Given the description of an element on the screen output the (x, y) to click on. 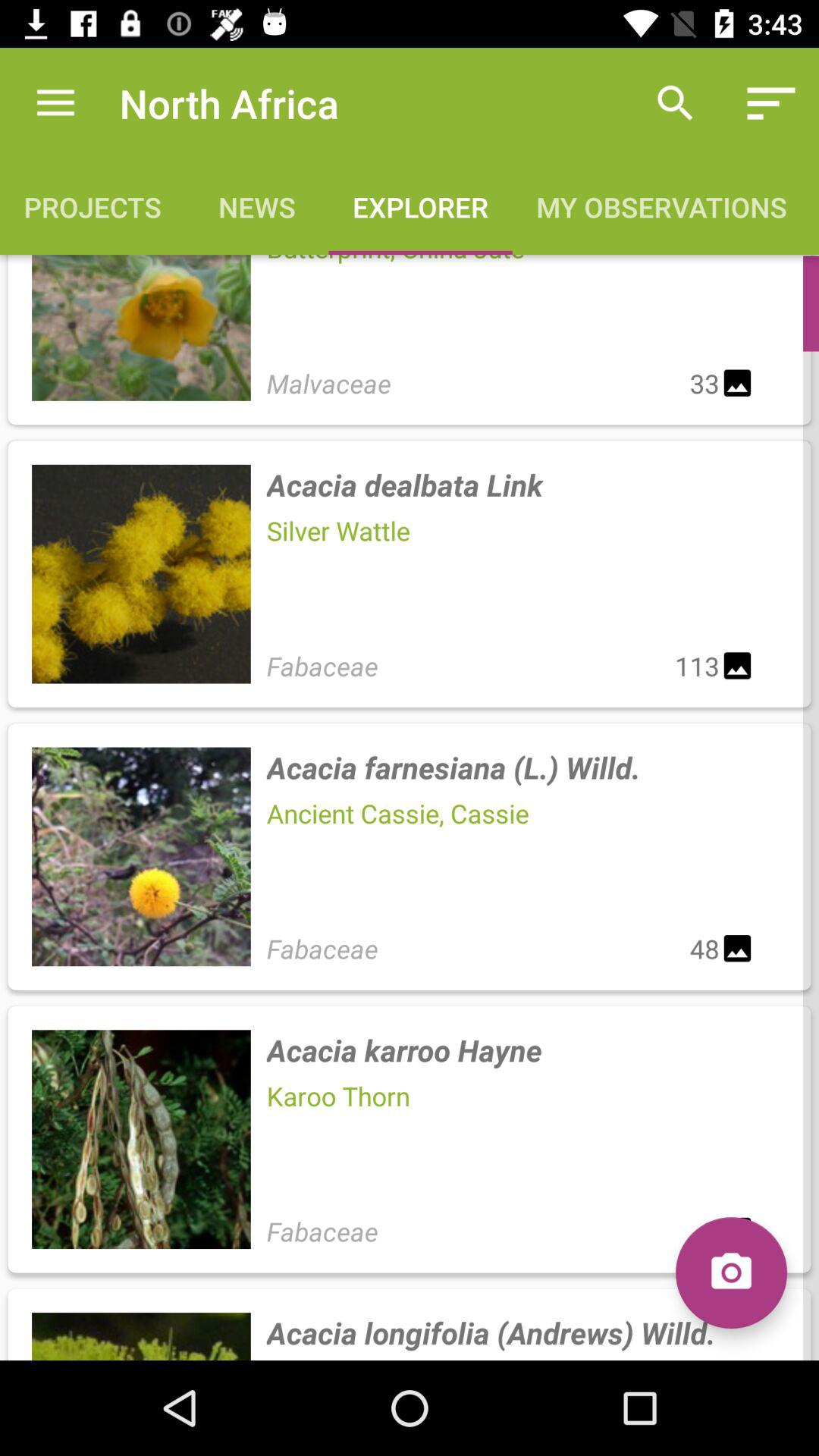
press the icon next to the fabaceae item (731, 1272)
